Given the description of an element on the screen output the (x, y) to click on. 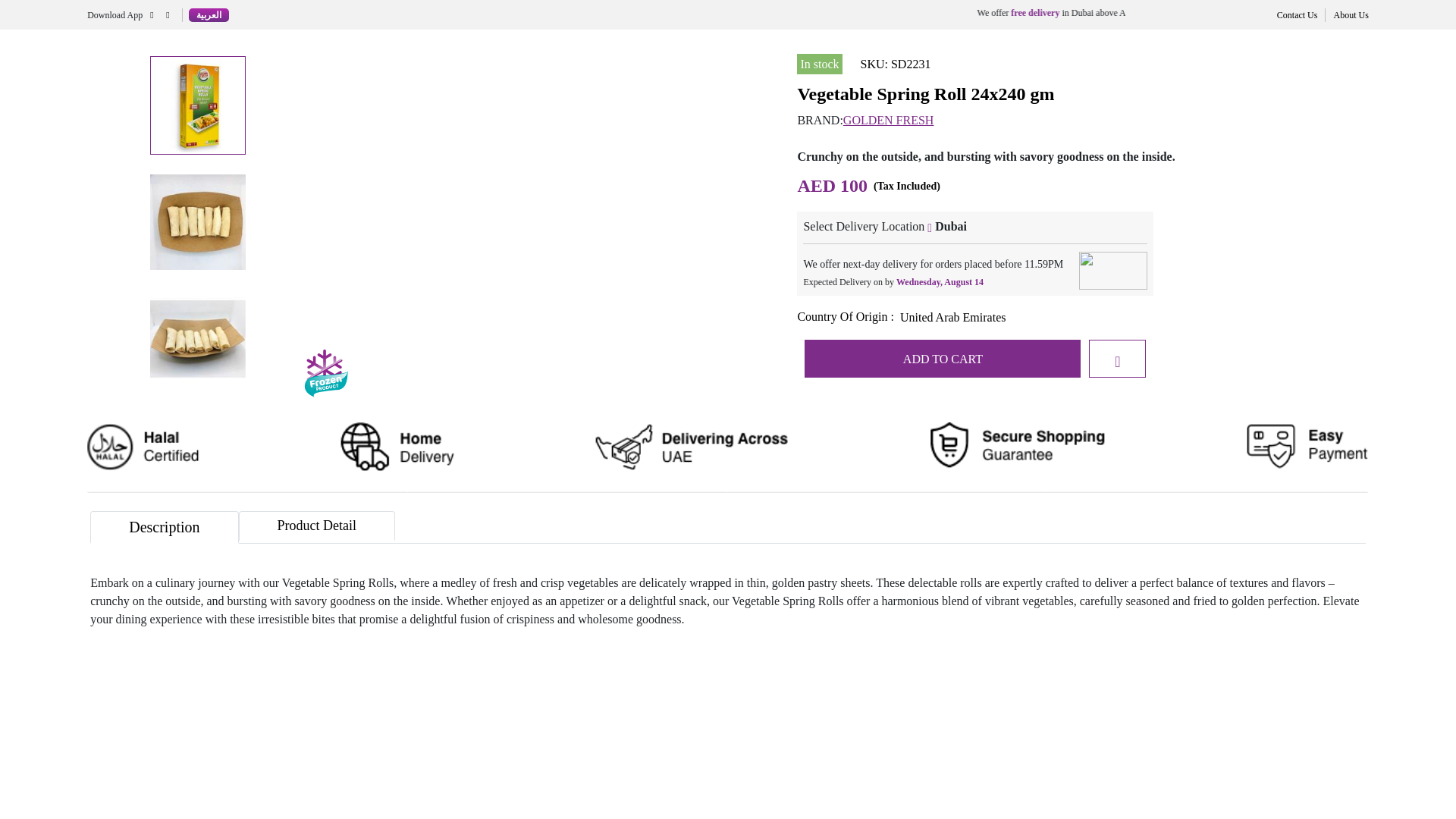
Description (164, 527)
ADD TO CART (942, 358)
Product Detail (316, 525)
Contact Us (1296, 14)
About Us (1350, 14)
